Given the description of an element on the screen output the (x, y) to click on. 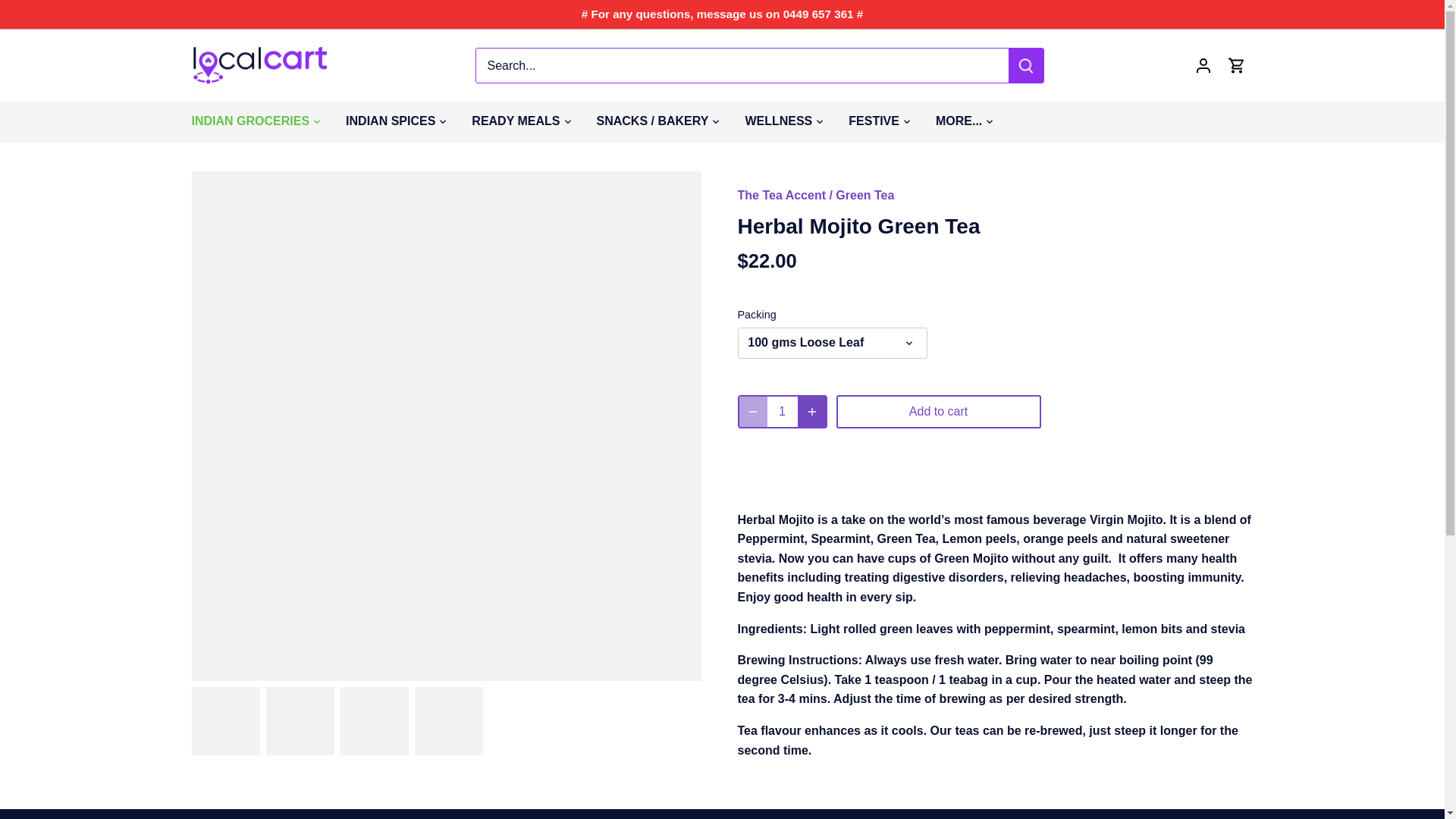
INDIAN GROCERIES (255, 121)
1 (782, 411)
INDIAN SPICES (389, 121)
